Given the description of an element on the screen output the (x, y) to click on. 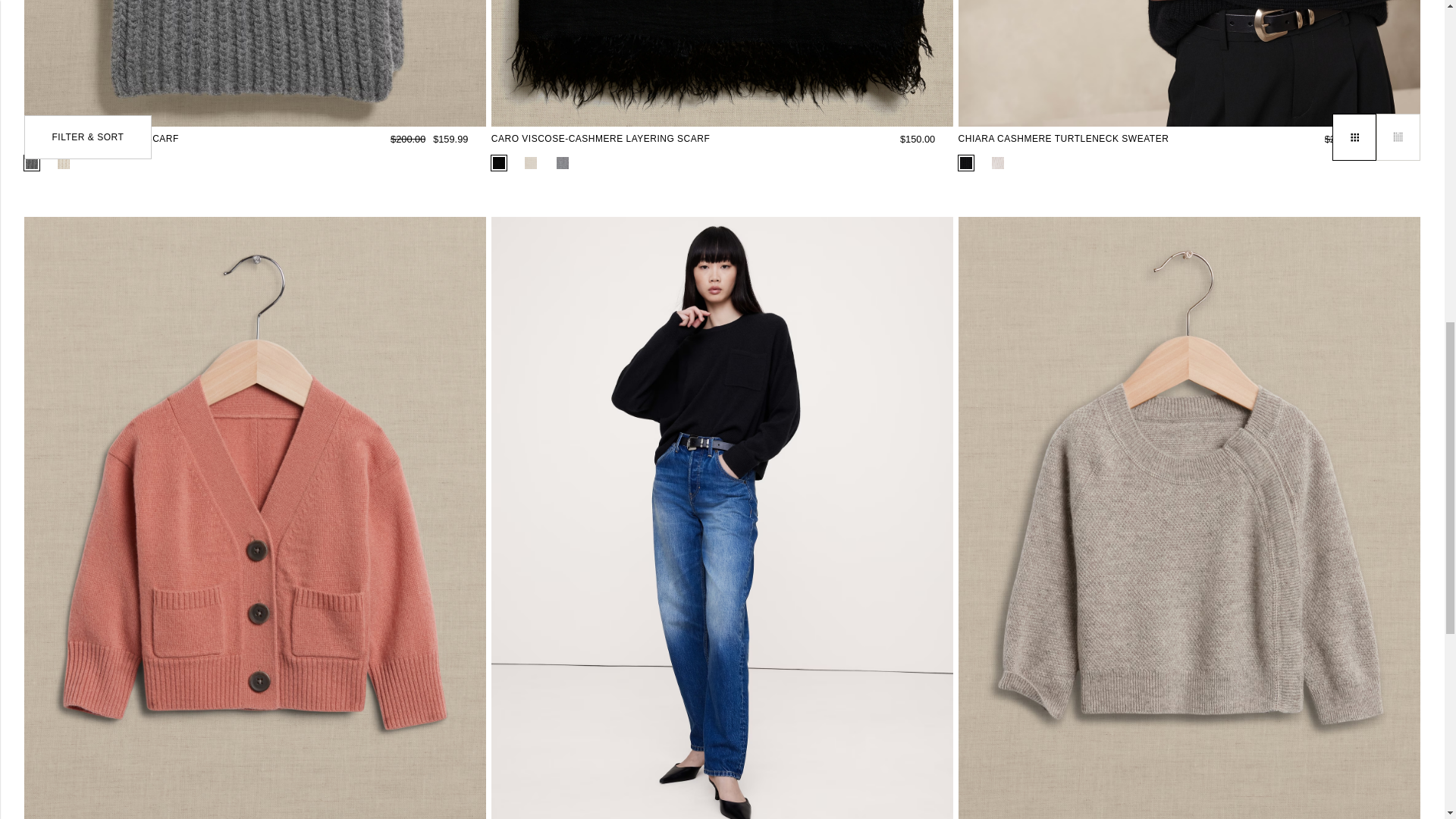
white (997, 162)
white (530, 162)
black (499, 162)
blue (562, 162)
gray (31, 162)
white (63, 162)
black (965, 162)
